Given the description of an element on the screen output the (x, y) to click on. 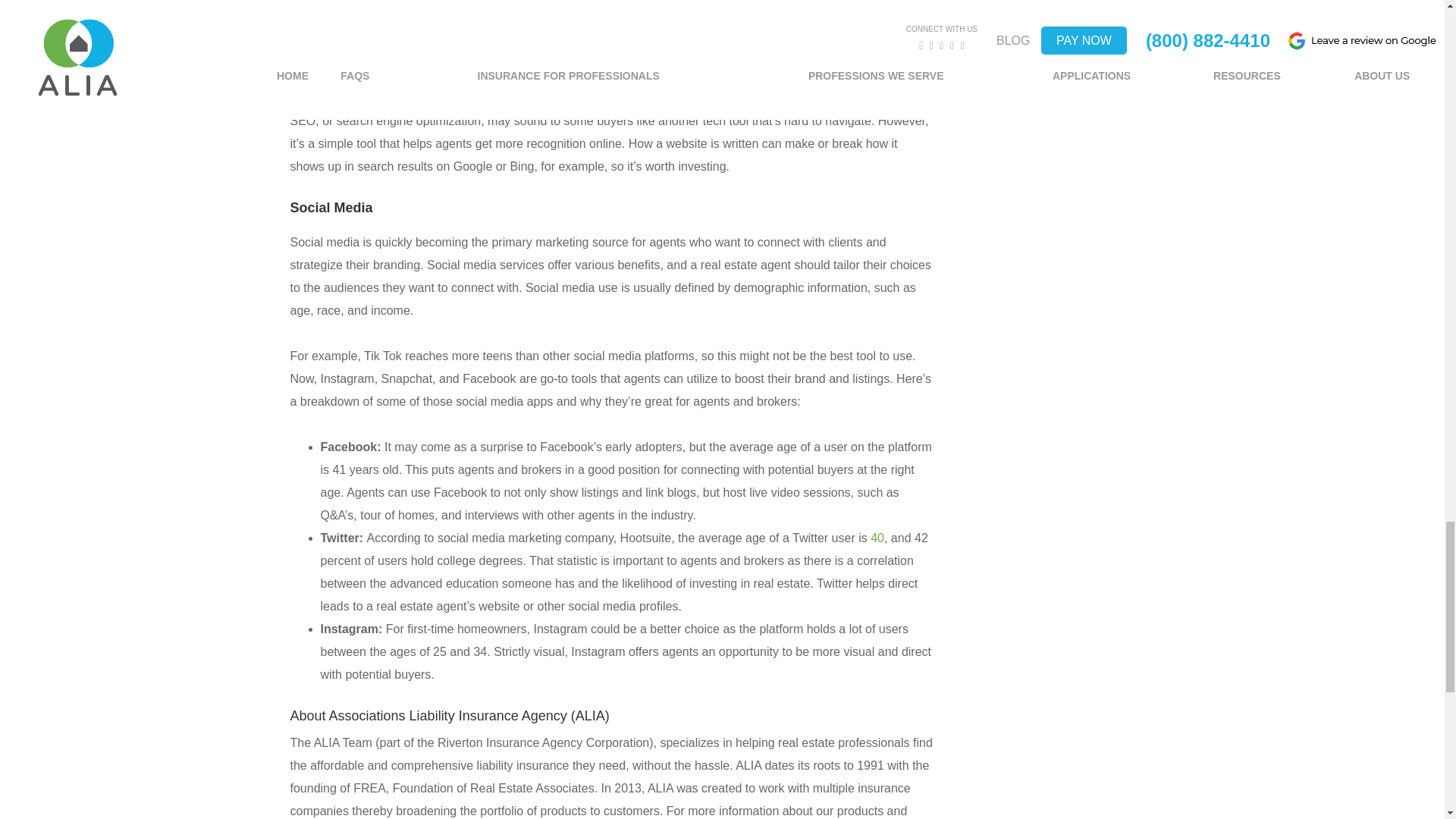
40 (876, 537)
